Given the description of an element on the screen output the (x, y) to click on. 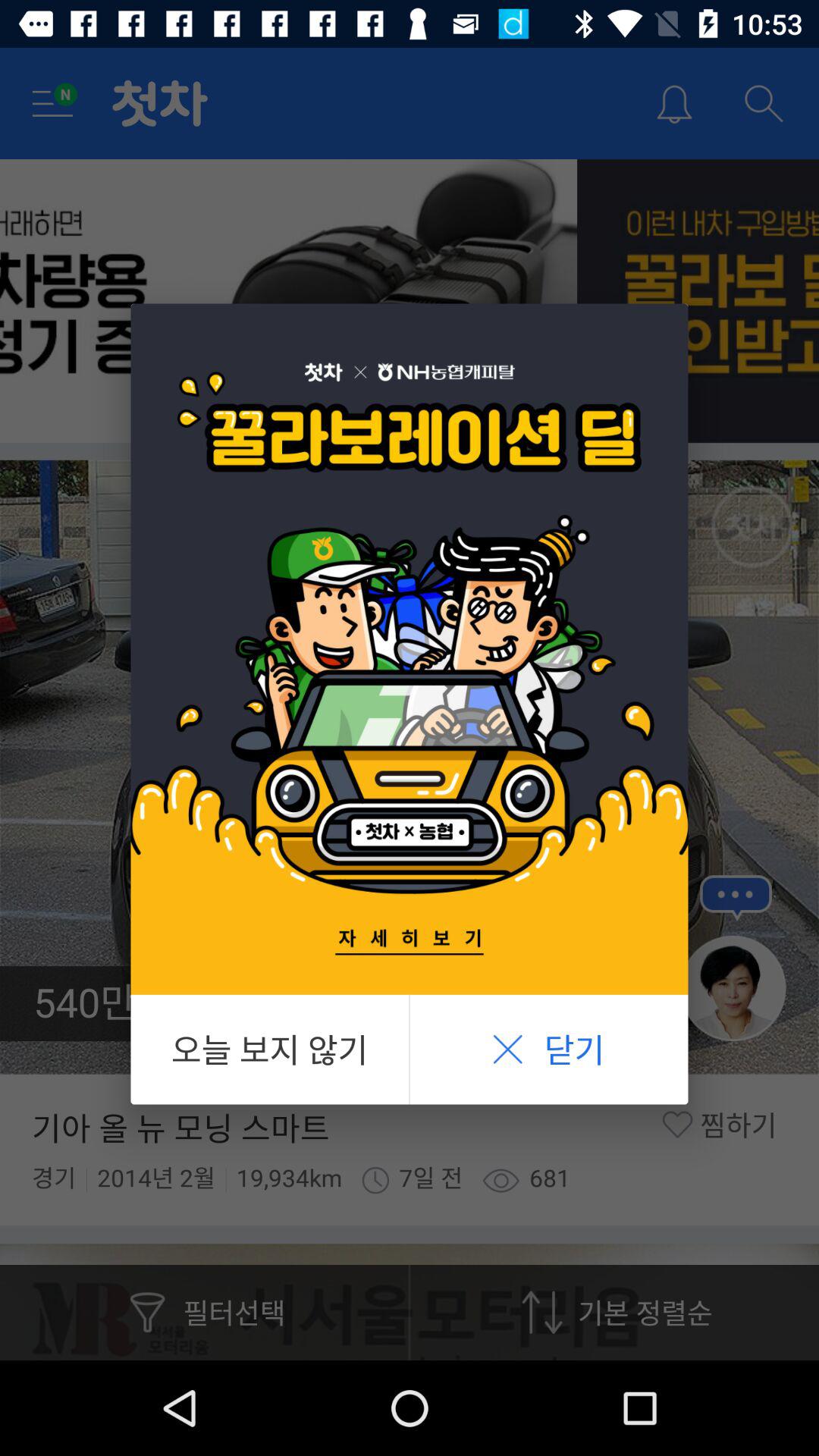
select the icon at the center (409, 648)
